Given the description of an element on the screen output the (x, y) to click on. 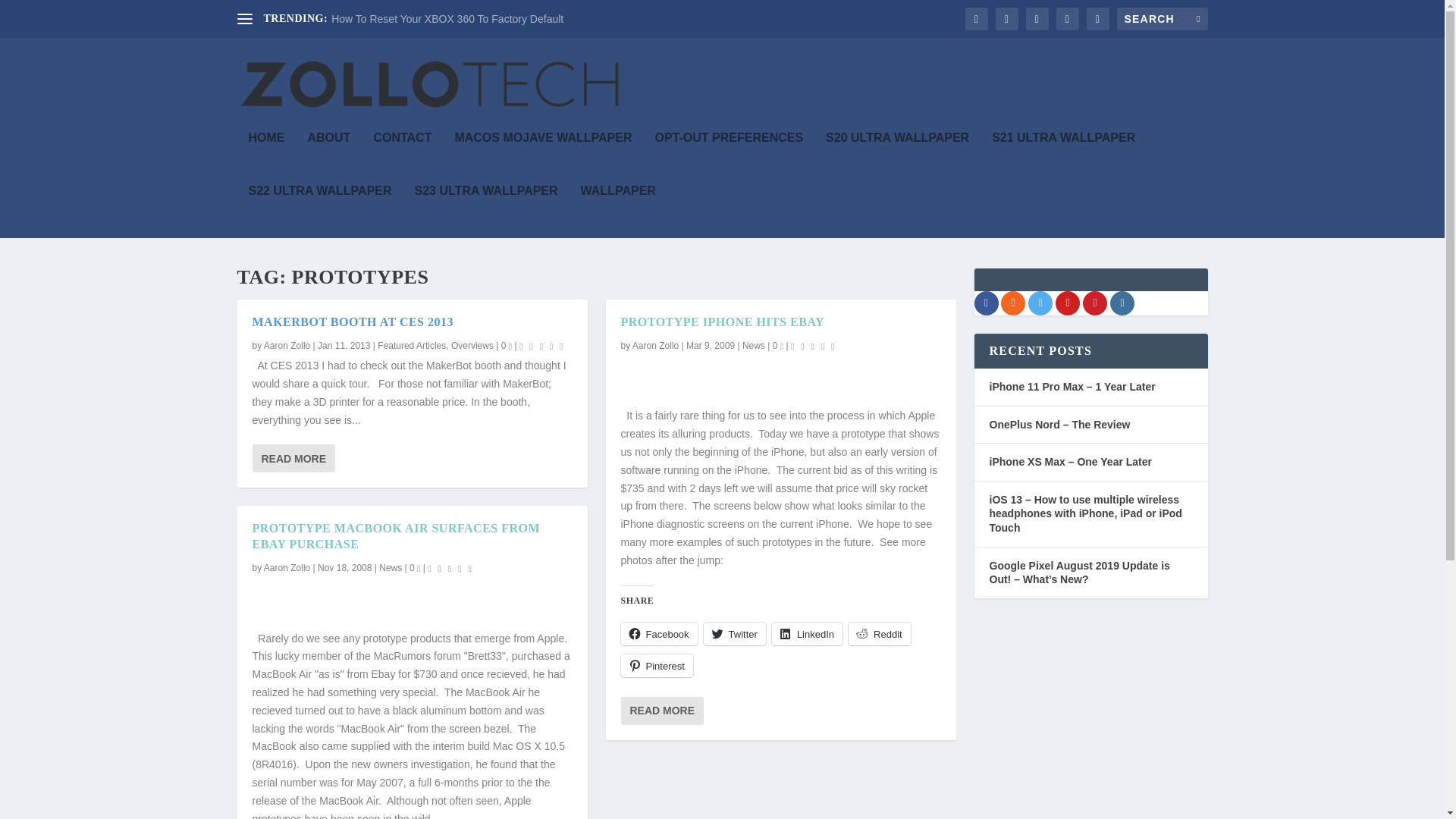
0 (414, 567)
Rating: 0.00 (543, 345)
CONTACT (401, 158)
How To Reset Your XBOX 360 To Factory Default (447, 19)
S21 ULTRA WALLPAPER (1063, 158)
News (389, 567)
Overviews (472, 345)
Search for: (1161, 18)
Rating: 0.00 (452, 567)
READ MORE (292, 458)
